Given the description of an element on the screen output the (x, y) to click on. 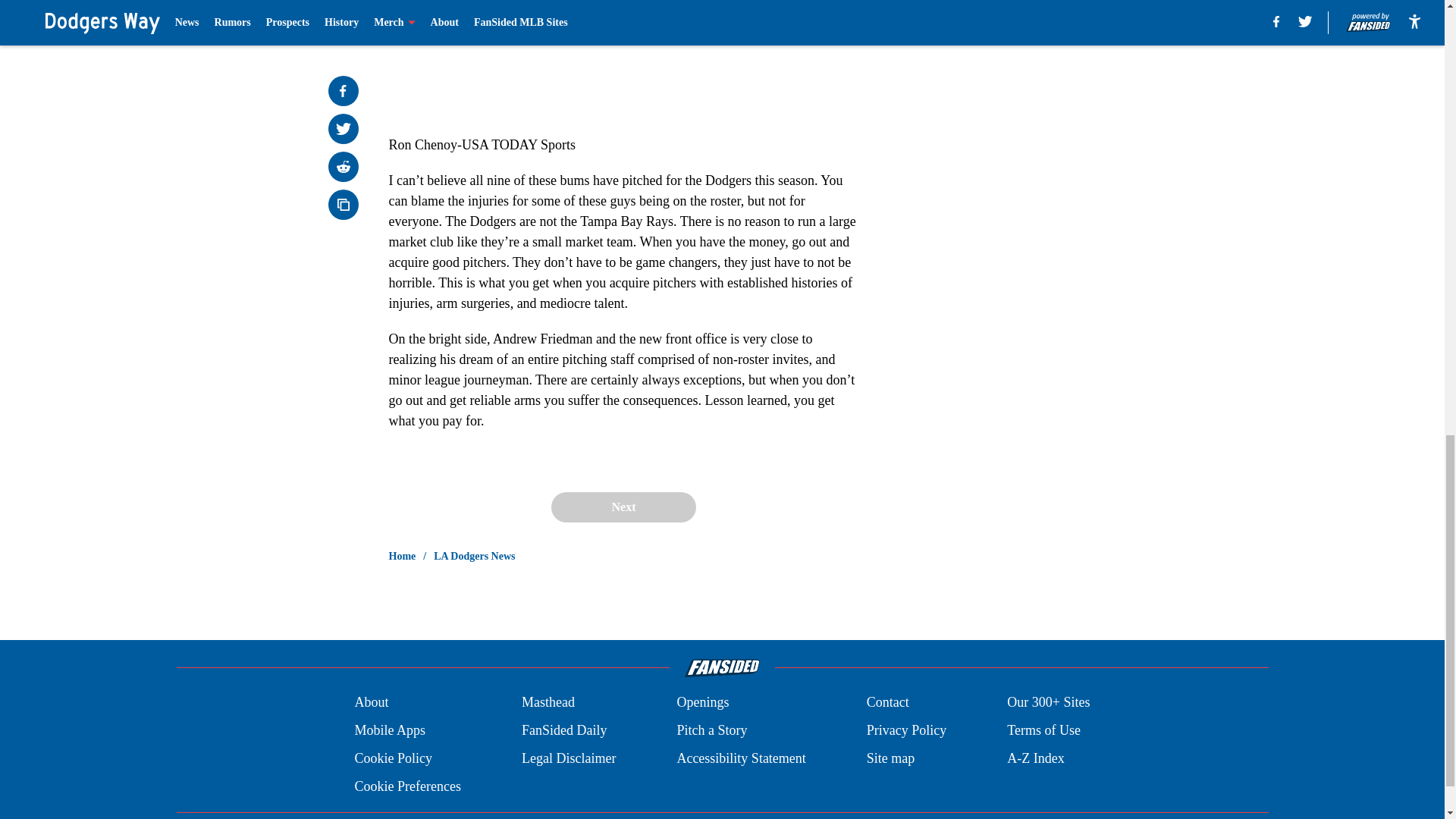
Masthead (548, 702)
About (370, 702)
Legal Disclaimer (568, 758)
Contact (887, 702)
Mobile Apps (389, 730)
FanSided Daily (564, 730)
LA Dodgers News (474, 556)
Next (622, 507)
Terms of Use (1043, 730)
Openings (703, 702)
Accessibility Statement (741, 758)
Privacy Policy (906, 730)
Pitch a Story (711, 730)
Cookie Policy (392, 758)
Home (401, 556)
